Given the description of an element on the screen output the (x, y) to click on. 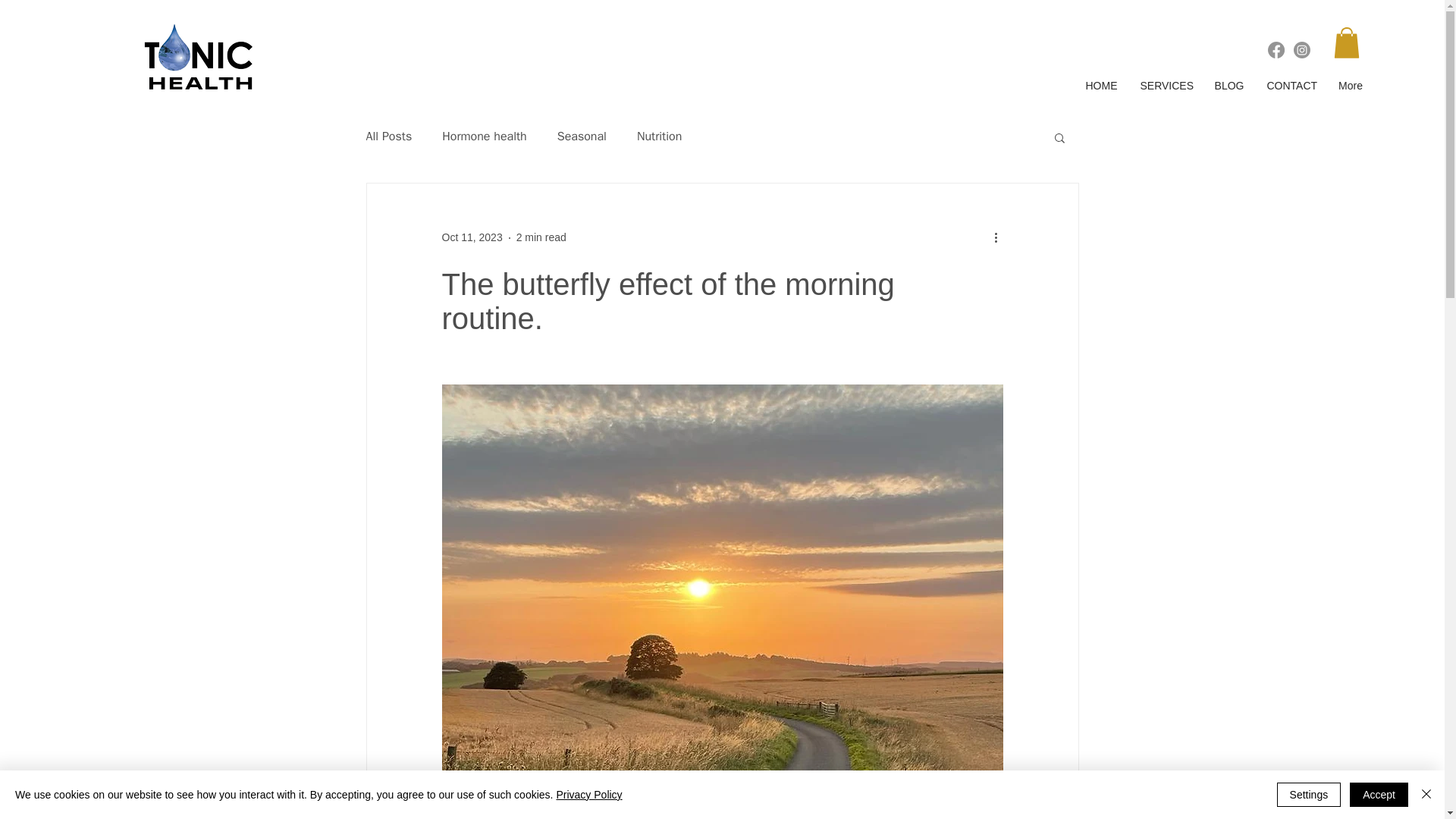
Seasonal (582, 136)
All Posts (388, 136)
Home page (198, 59)
SERVICES (1165, 85)
2 min read (541, 236)
Nutrition (659, 136)
Oct 11, 2023 (471, 236)
CONTACT (1290, 85)
BLOG (1228, 85)
Hormone health (484, 136)
HOME (1101, 85)
